Given the description of an element on the screen output the (x, y) to click on. 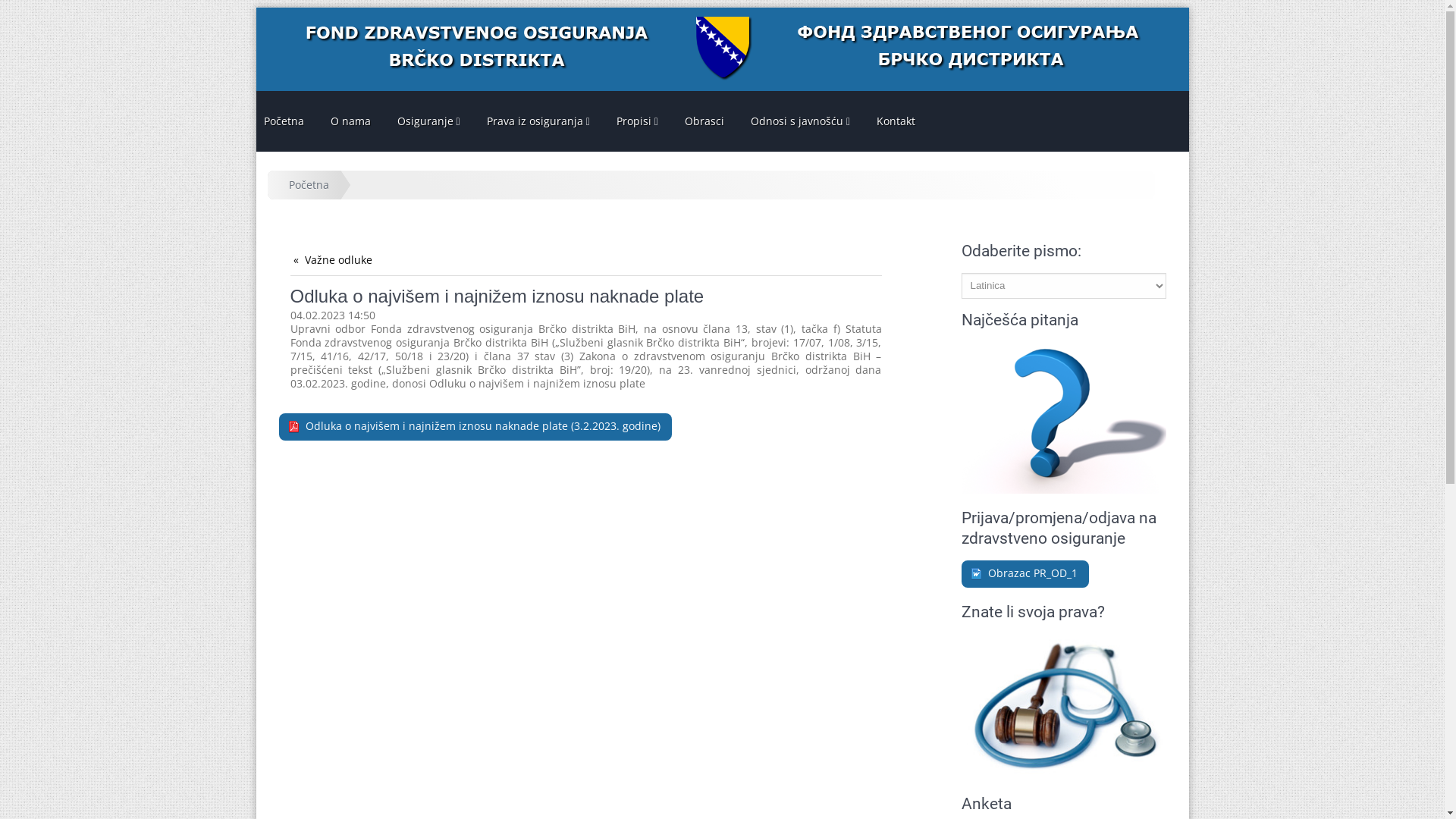
Obrasci Element type: text (704, 121)
Osiguranje Element type: text (428, 121)
Obrazac PR_OD_1 Element type: text (1024, 573)
Kontakt Element type: text (895, 121)
Prava iz osiguranja Element type: text (538, 121)
O nama Element type: text (350, 121)
Propisi Element type: text (636, 121)
